Given the description of an element on the screen output the (x, y) to click on. 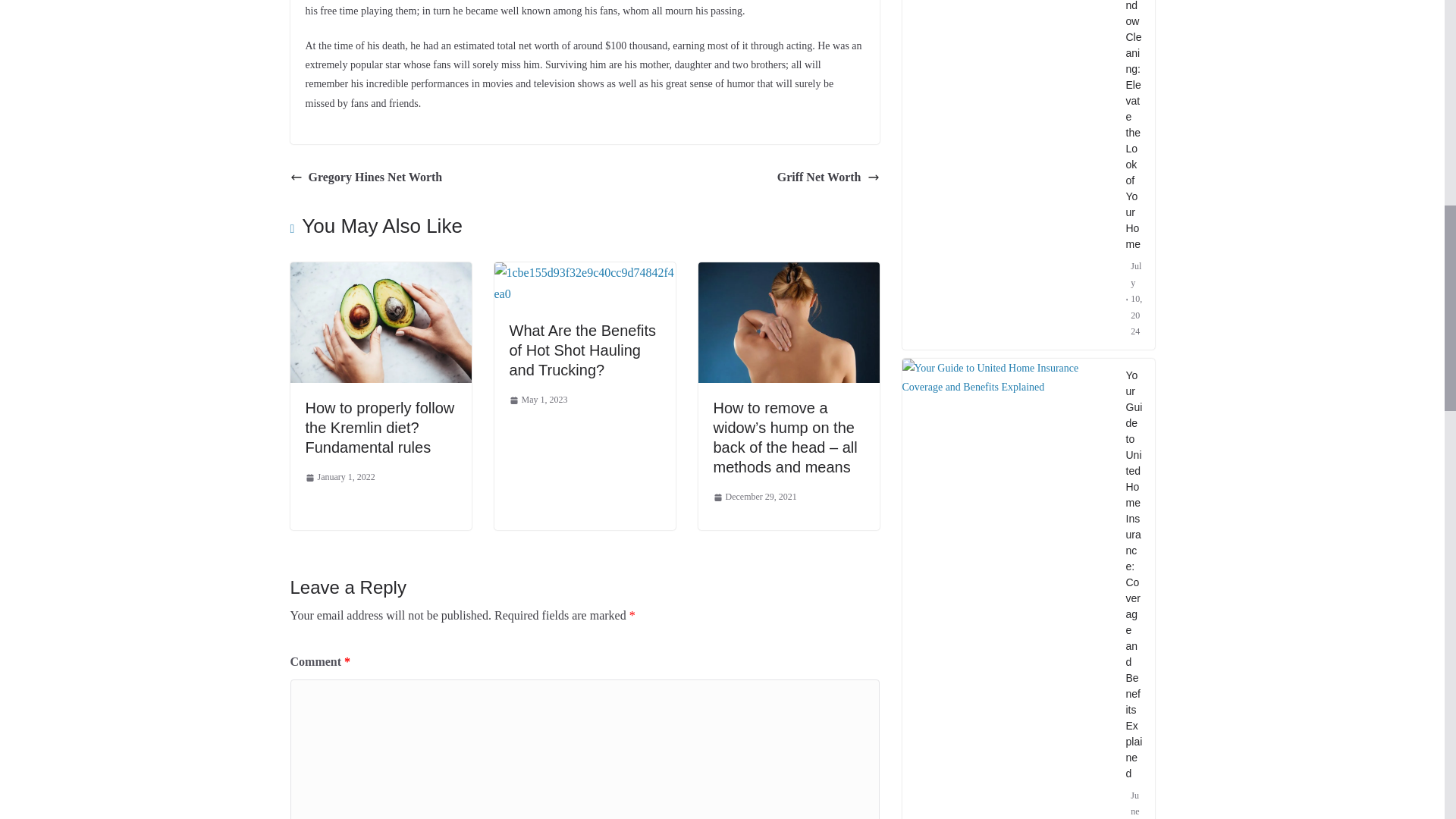
How to properly follow the Kremlin diet? Fundamental rules (379, 427)
How to properly follow the Kremlin diet?  Fundamental rules (379, 427)
Gregory Hines Net Worth (365, 178)
January 1, 2022 (339, 477)
How to properly follow the Kremlin diet Fundamental rules (379, 322)
11:50 AM (339, 477)
What Are the Benefits of Hot Shot Hauling and Trucking? (582, 350)
How to properly follow the Kremlin diet?  Fundamental rules (379, 272)
May 1, 2023 (538, 400)
December 29, 2021 (754, 497)
Griff Net Worth (828, 178)
